Given the description of an element on the screen output the (x, y) to click on. 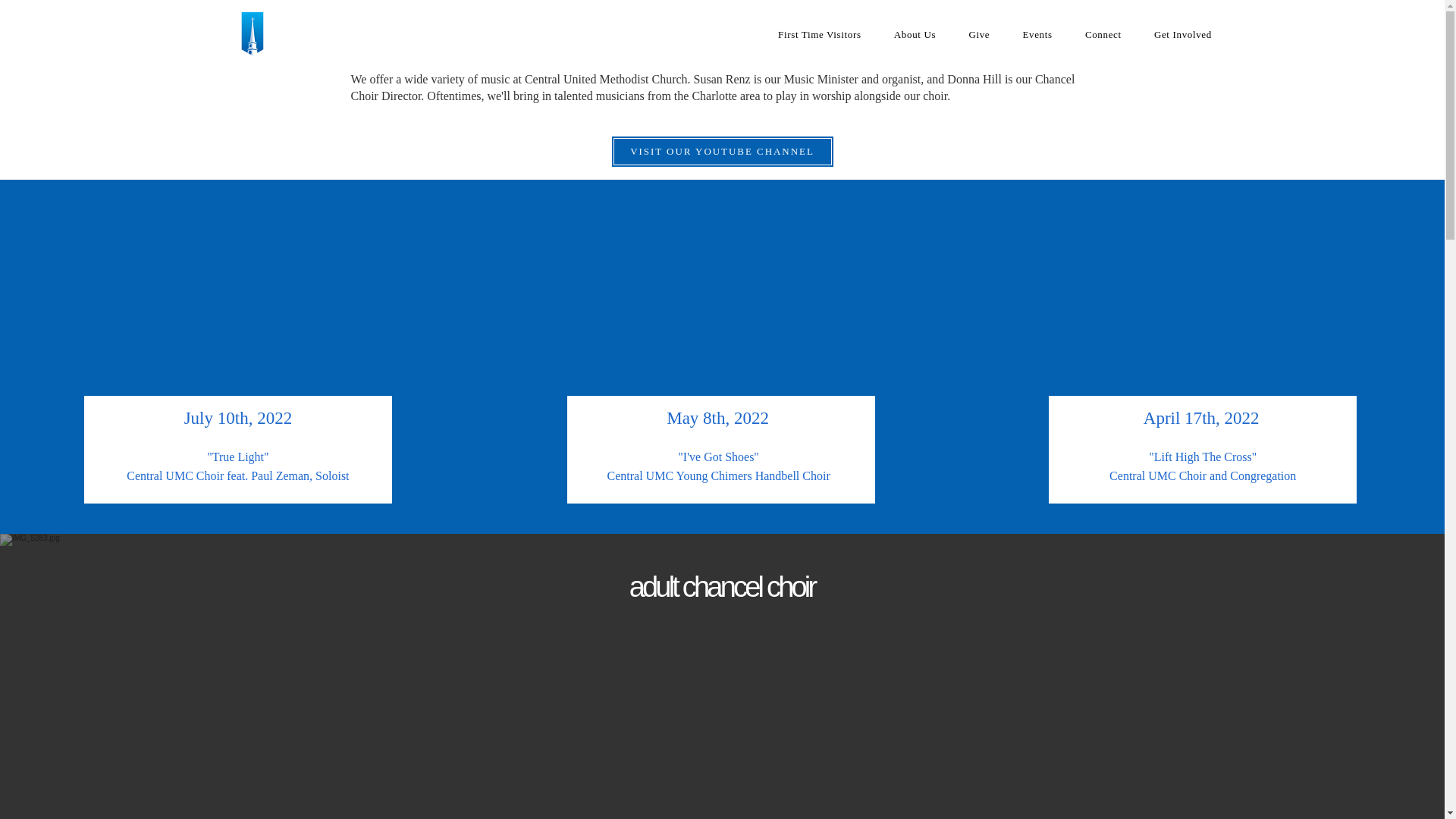
VISIT OUR YOUTUBE CHANNEL (722, 151)
Events (1037, 34)
Connect (1102, 34)
First Time Visitors (819, 34)
About Us (914, 34)
Give (979, 34)
